Given the description of an element on the screen output the (x, y) to click on. 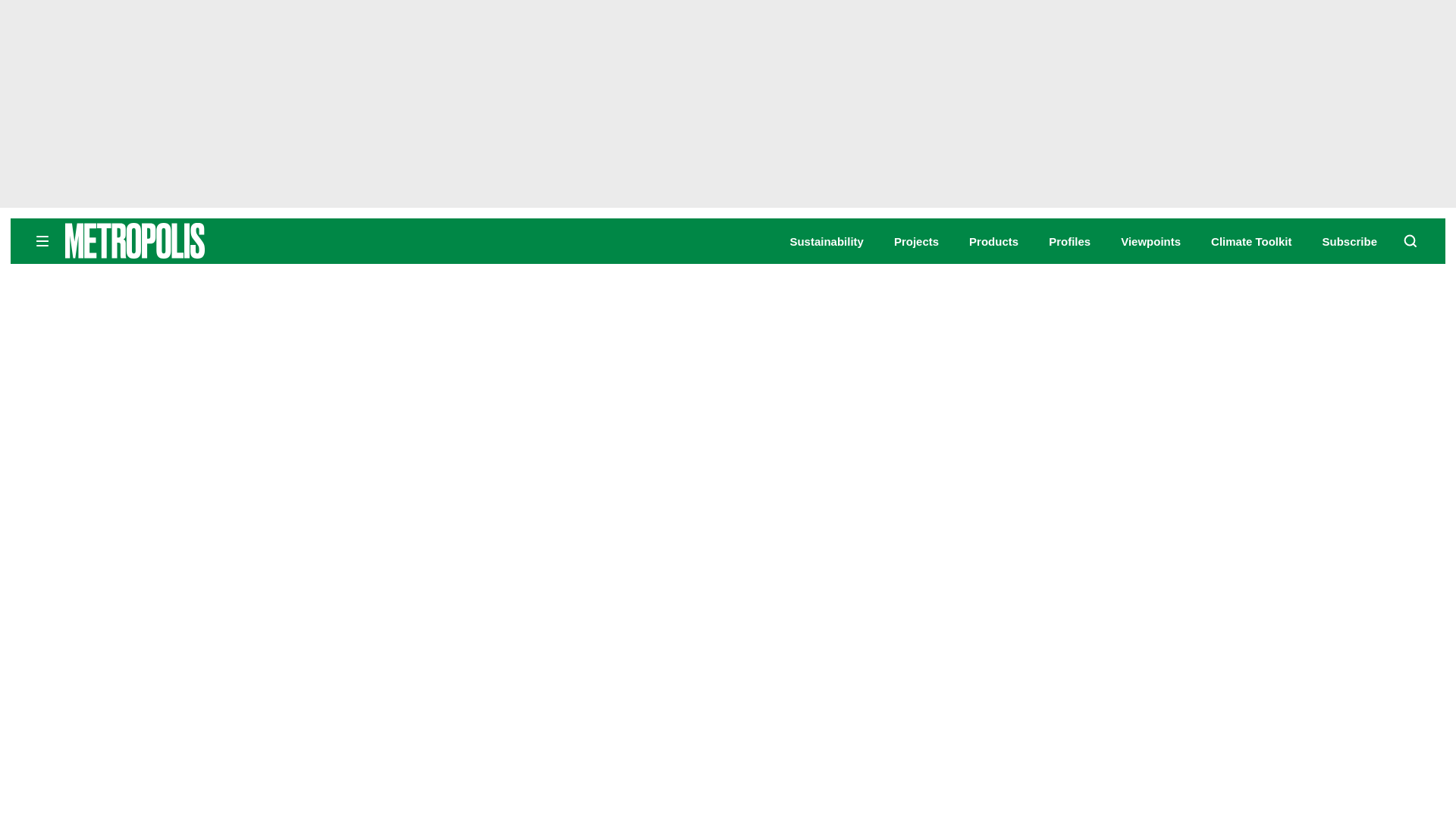
METROPOLIS (181, 240)
Projects (916, 241)
Profiles (1069, 241)
Sustainability (826, 241)
Products (993, 241)
Subscribe (1349, 241)
Viewpoints (1150, 241)
Climate Toolkit (1251, 241)
